Given the description of an element on the screen output the (x, y) to click on. 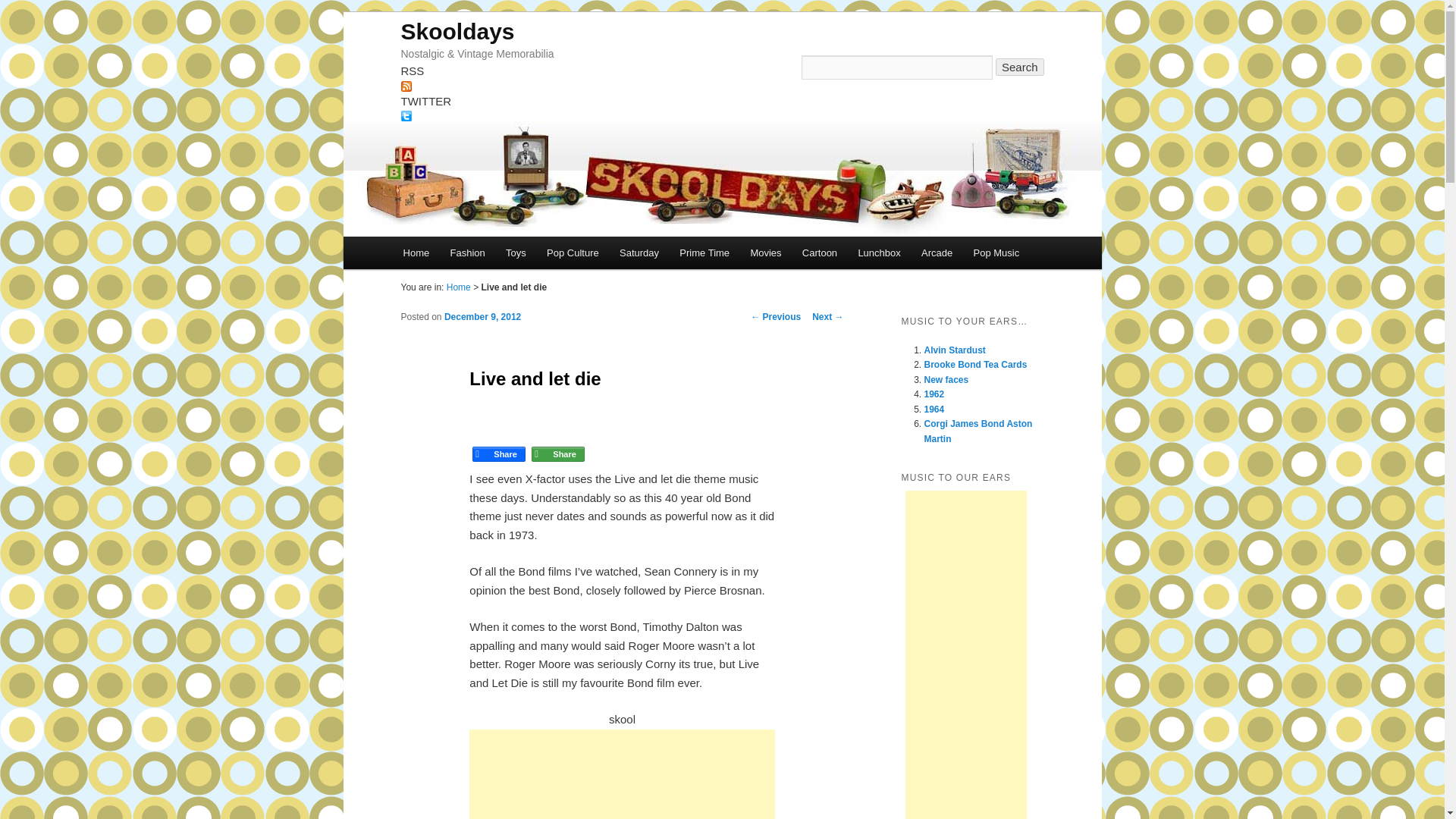
Syndicate this content (721, 94)
Skooldays (456, 30)
Skooldays (456, 30)
Home (416, 252)
Toys (515, 252)
Pop Culture (571, 252)
Toys and Games (515, 252)
Search (1019, 67)
Follow on Twitter (721, 123)
Fashion (467, 252)
Search (1019, 67)
Movies (765, 252)
Fashion (467, 252)
